Given the description of an element on the screen output the (x, y) to click on. 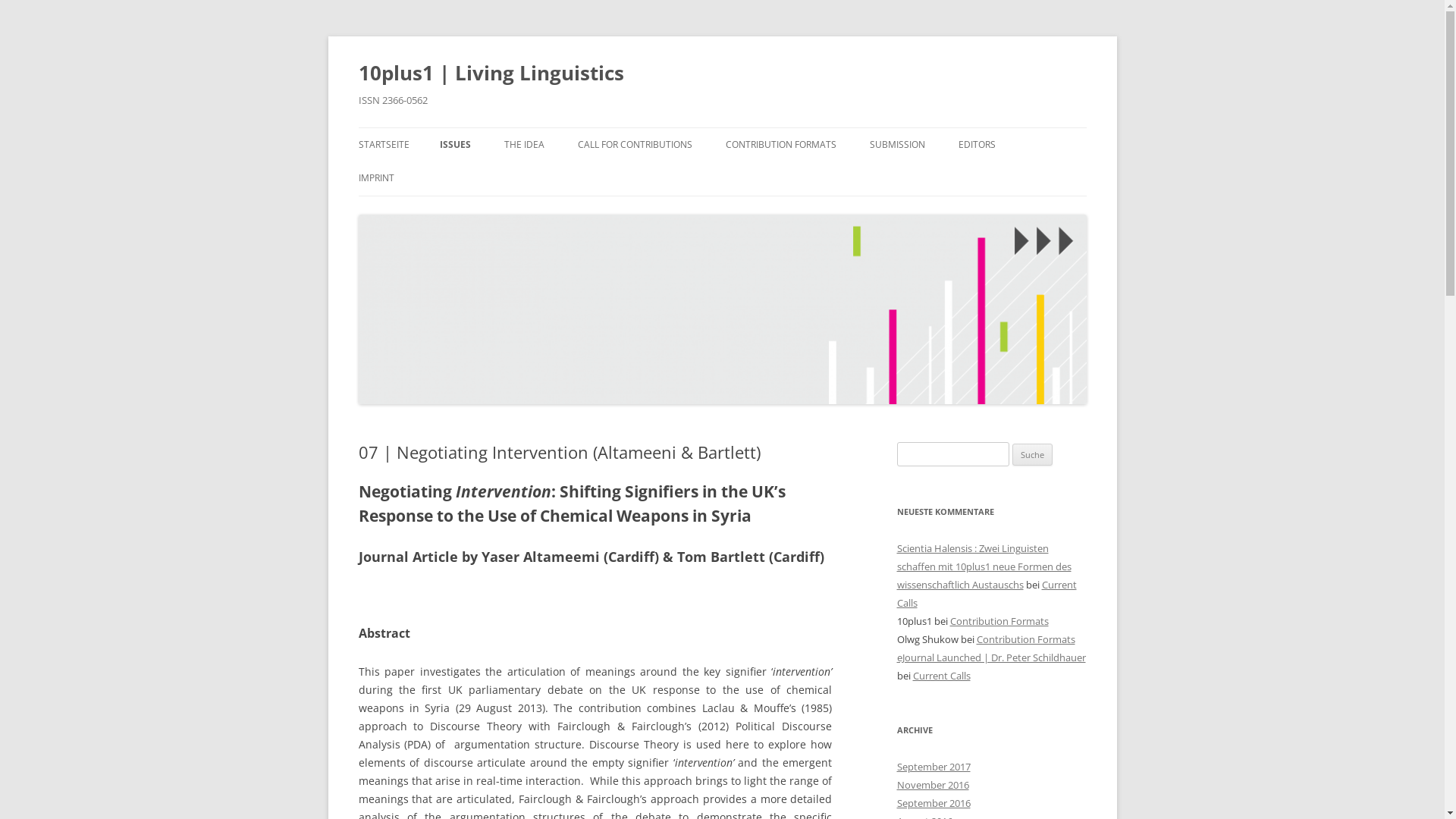
September 2017 Element type: text (932, 766)
GUIDELINES | DATES Element type: text (944, 176)
STARTSEITE Element type: text (382, 144)
November 2016 Element type: text (932, 784)
IMPRINT Element type: text (375, 177)
Contribution Formats Element type: text (1025, 639)
Suche Element type: text (1032, 454)
Current Calls Element type: text (941, 675)
EDITORS AND GUEST EDITORS Element type: text (1034, 176)
EDITORS Element type: text (976, 144)
CALL FOR CONTRIBUTIONS Element type: text (634, 144)
eJournal Launched | Dr. Peter Schildhauer Element type: text (990, 657)
CONTRIBUTION FORMATS Element type: text (779, 144)
SUBMISSION Element type: text (896, 144)
THE IDEA Element type: text (523, 144)
September 2016 Element type: text (932, 802)
CURRENT CALLS Element type: text (653, 176)
Current Calls Element type: text (986, 593)
Contribution Formats Element type: text (998, 620)
10plus1 | Living Linguistics Element type: text (490, 72)
ISSUE #1: MEDIA LINGUISTICS Element type: text (515, 176)
ISSUES Element type: text (454, 144)
Zum Inhalt springen Element type: text (773, 132)
